Given the description of an element on the screen output the (x, y) to click on. 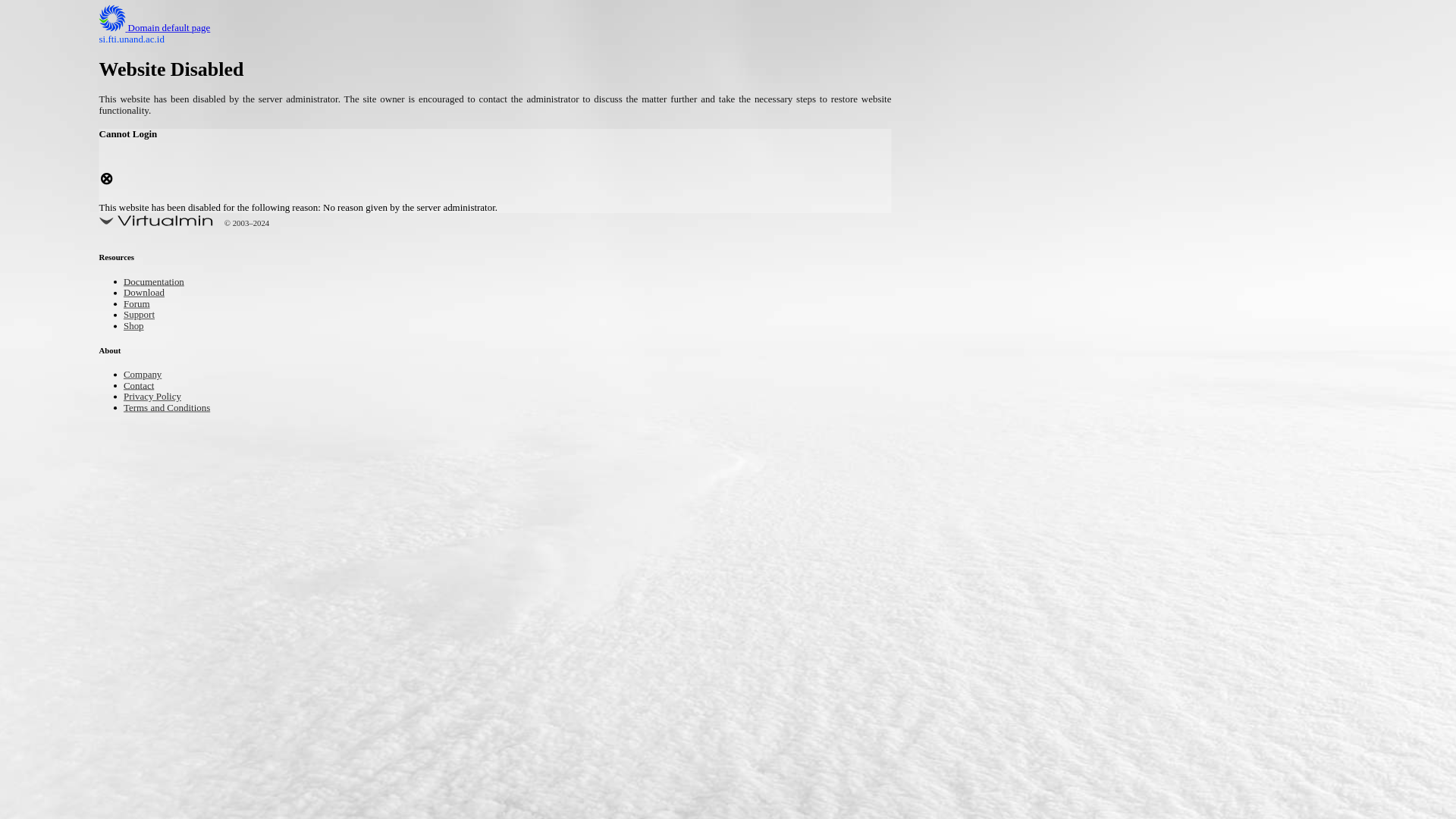
Forum (139, 305)
Terms and Conditions (176, 408)
Contact (142, 386)
Documentation (160, 282)
Privacy Policy (159, 397)
Download (148, 293)
Shop (135, 327)
Support (142, 315)
Domain default page (167, 29)
Company (146, 374)
